Given the description of an element on the screen output the (x, y) to click on. 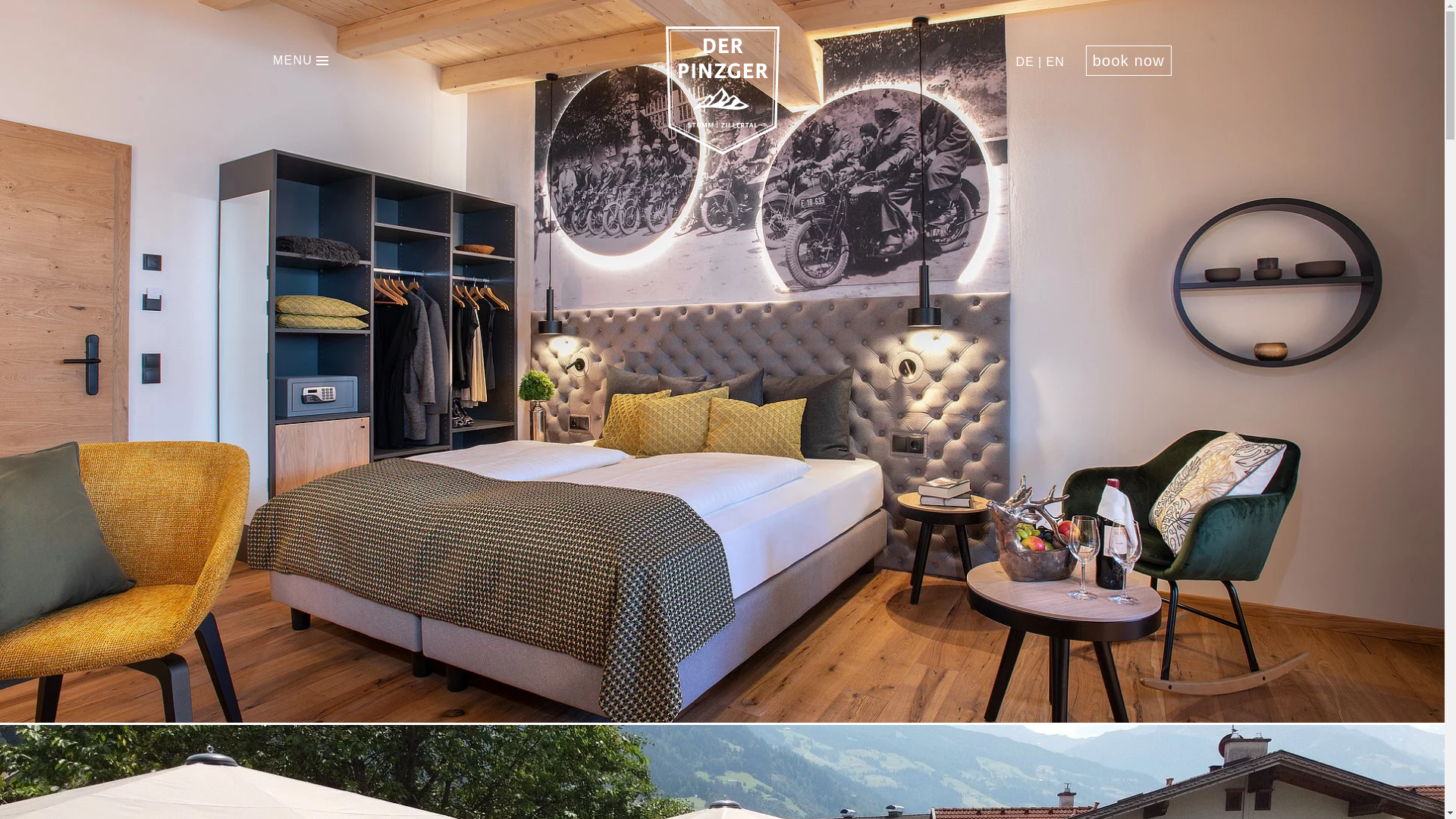
booklink (1129, 60)
book now (1129, 60)
Der Pinzger (721, 149)
